Given the description of an element on the screen output the (x, y) to click on. 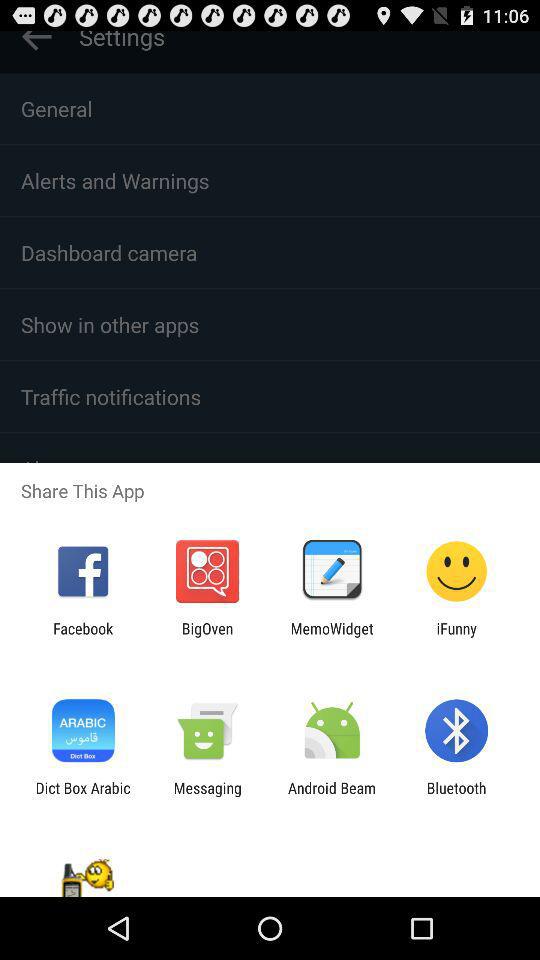
click the bluetooth icon (456, 796)
